Given the description of an element on the screen output the (x, y) to click on. 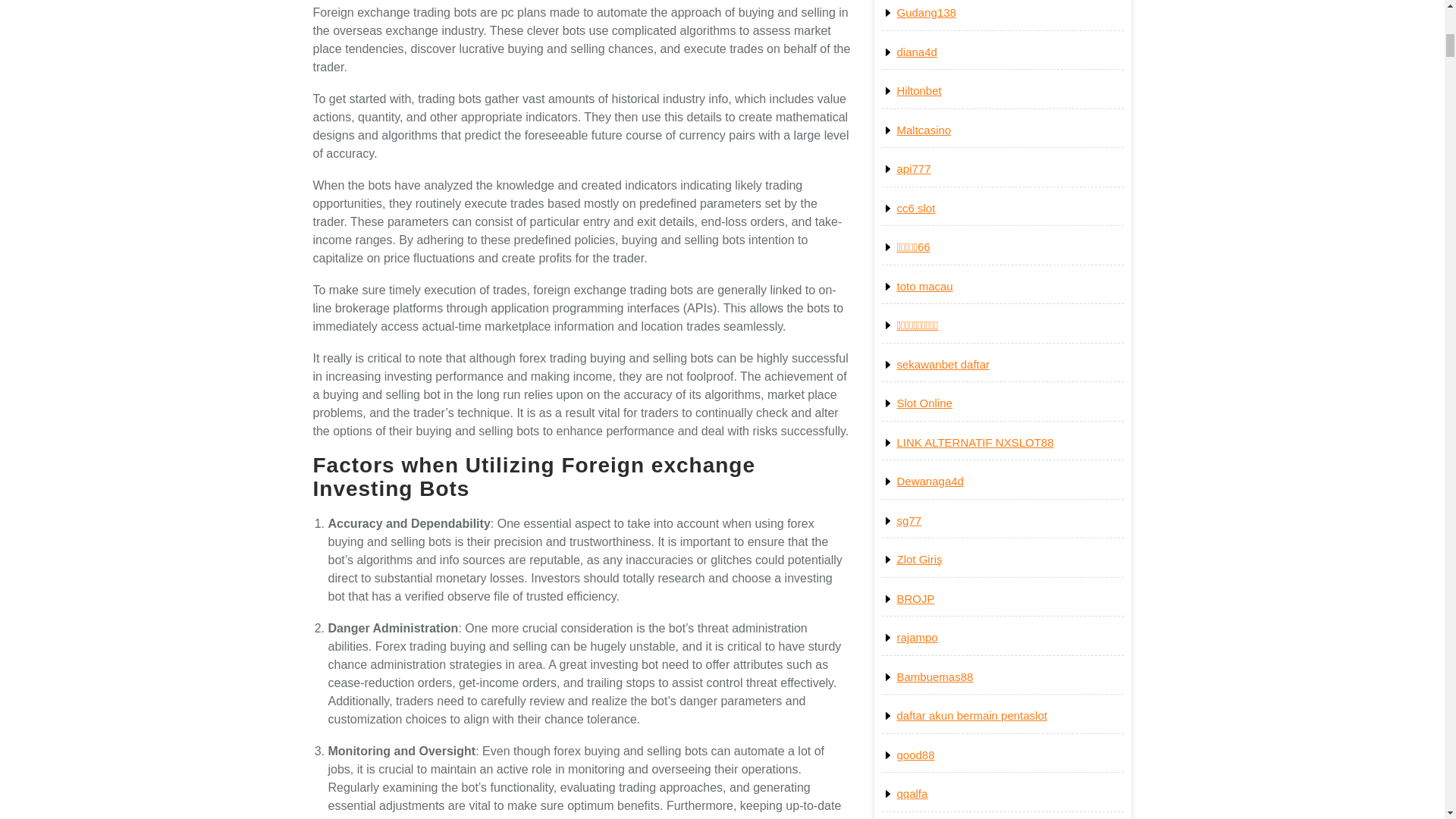
toto macau (924, 286)
diana4d (916, 51)
sekawanbet daftar (943, 364)
cc6 slot (915, 207)
Bambuemas88 (934, 676)
rajampo (916, 636)
Maltcasino (923, 129)
sg77 (908, 520)
Slot Online (924, 402)
BROJP (915, 598)
api777 (913, 168)
LINK ALTERNATIF NXSLOT88 (974, 441)
Dewanaga4d (929, 481)
Gudang138 (925, 11)
daftar akun bermain pentaslot (971, 715)
